Given the description of an element on the screen output the (x, y) to click on. 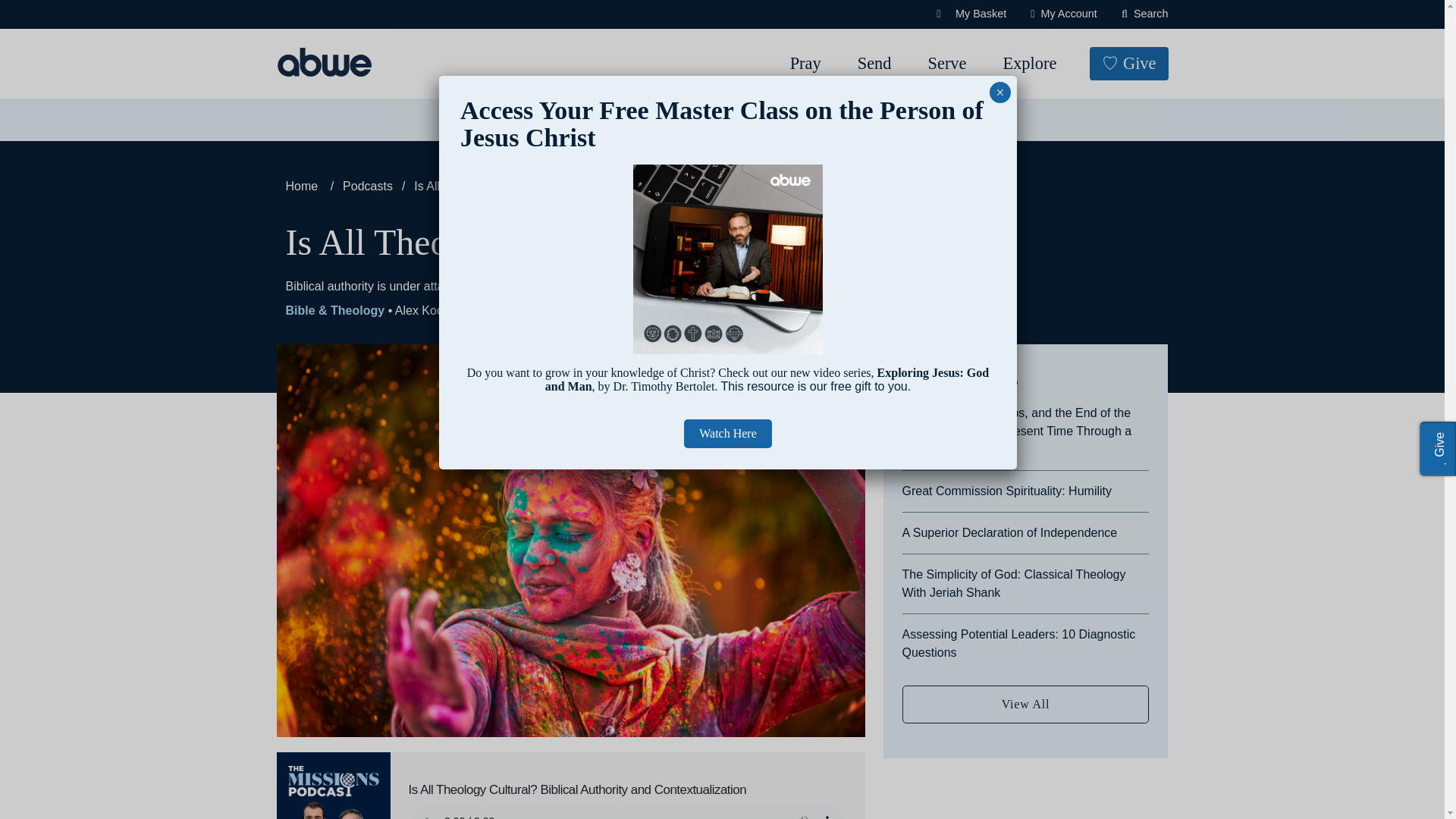
Topics (487, 119)
Search (64, 18)
Search (1145, 14)
Message Magazine (682, 119)
Pray (805, 63)
Serve (946, 63)
Articles (567, 119)
My Account (1063, 14)
My Basket (971, 14)
Send (874, 63)
Articles (567, 119)
Explore (1028, 63)
Message Magazine (682, 119)
Topics (487, 119)
